Given the description of an element on the screen output the (x, y) to click on. 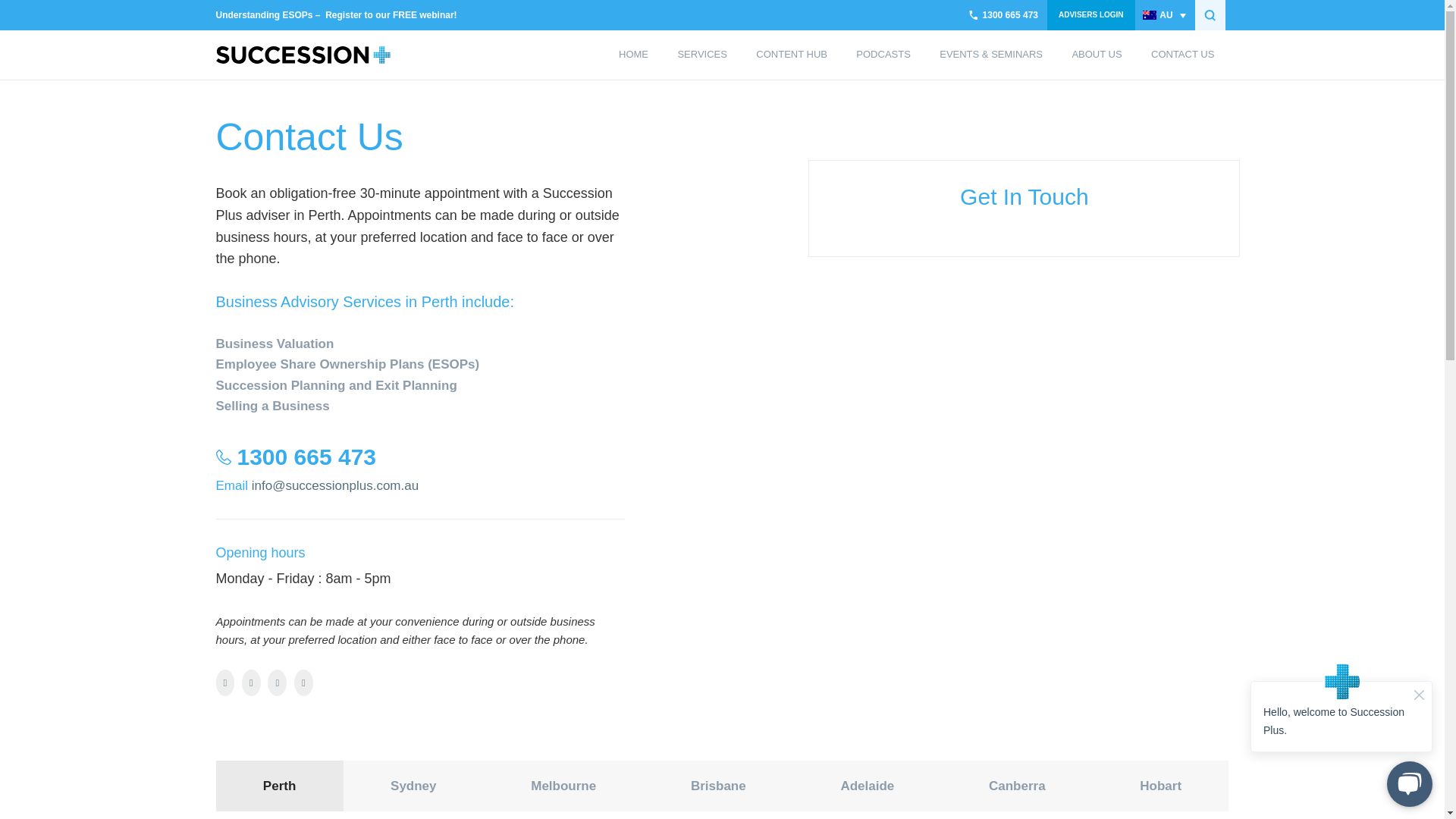
PODCASTS (882, 54)
CONTENT HUB (791, 54)
ADVISERS LOGIN (1090, 15)
AU (1164, 15)
1300 665 473 (1003, 15)
Register to our FREE webinar! (390, 15)
SERVICES (701, 54)
ABOUT US (1097, 54)
HOME (633, 54)
